Given the description of an element on the screen output the (x, y) to click on. 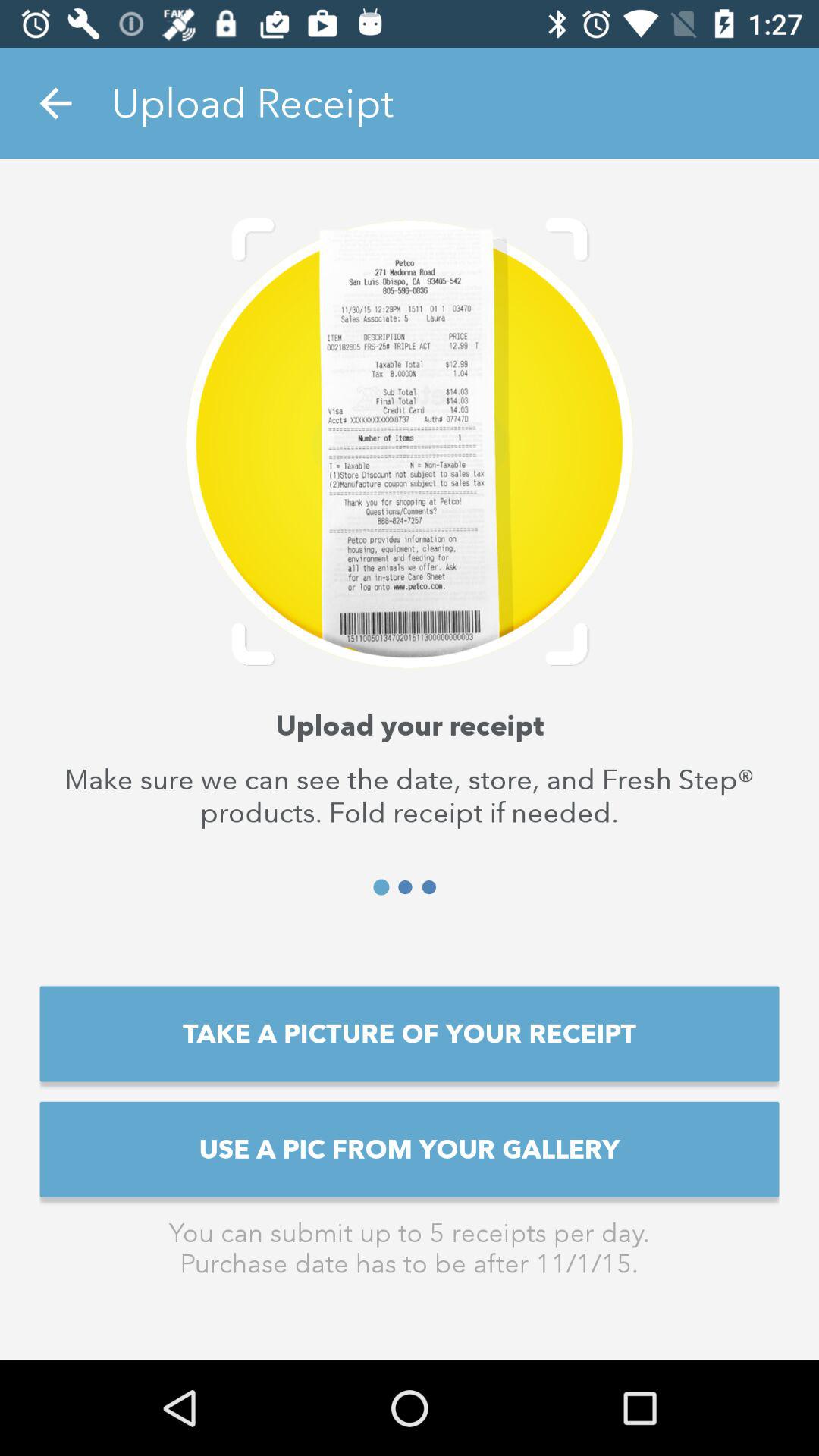
turn on the icon to the left of upload receipt icon (55, 103)
